Given the description of an element on the screen output the (x, y) to click on. 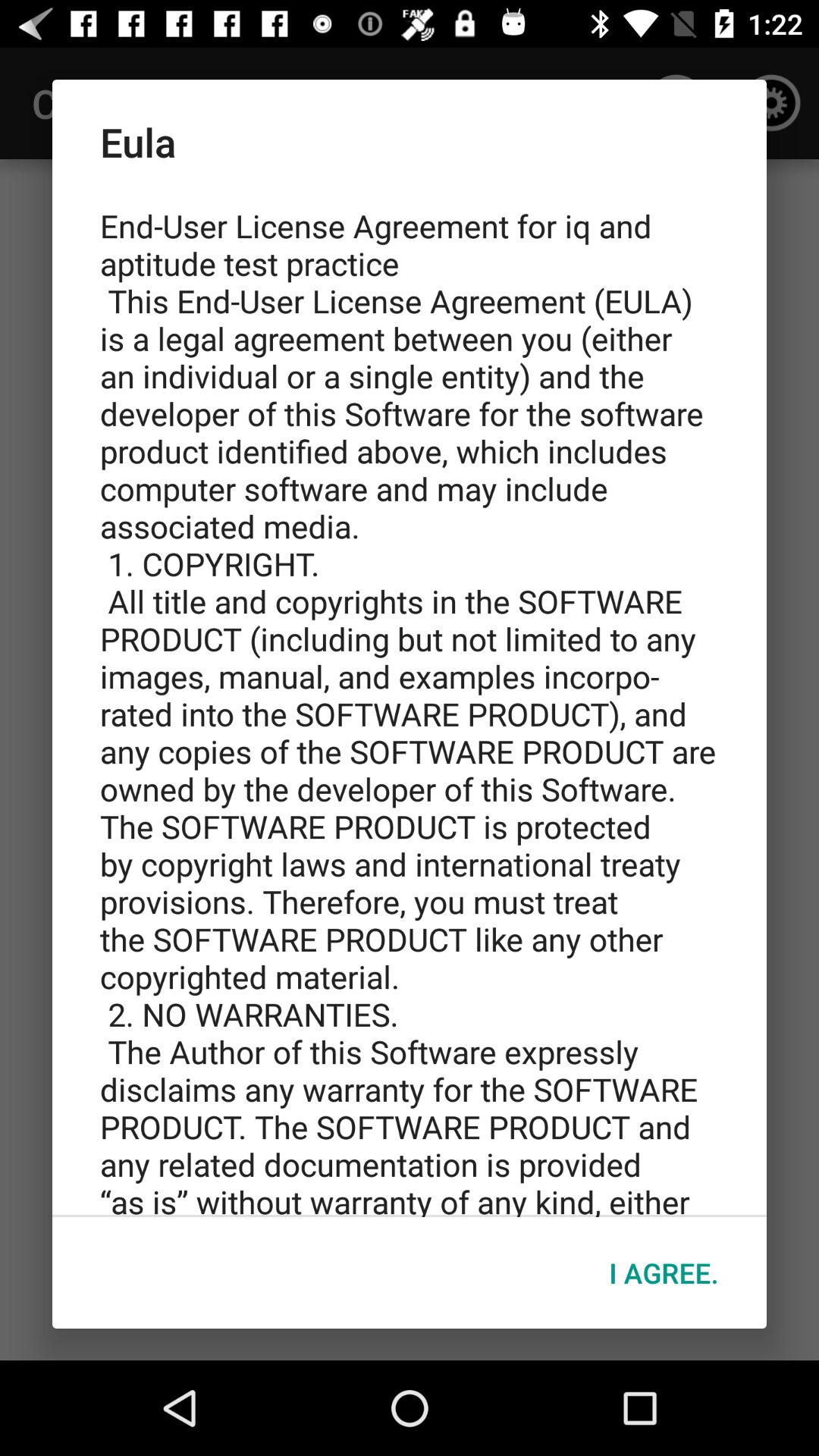
turn on item at the bottom right corner (663, 1272)
